Given the description of an element on the screen output the (x, y) to click on. 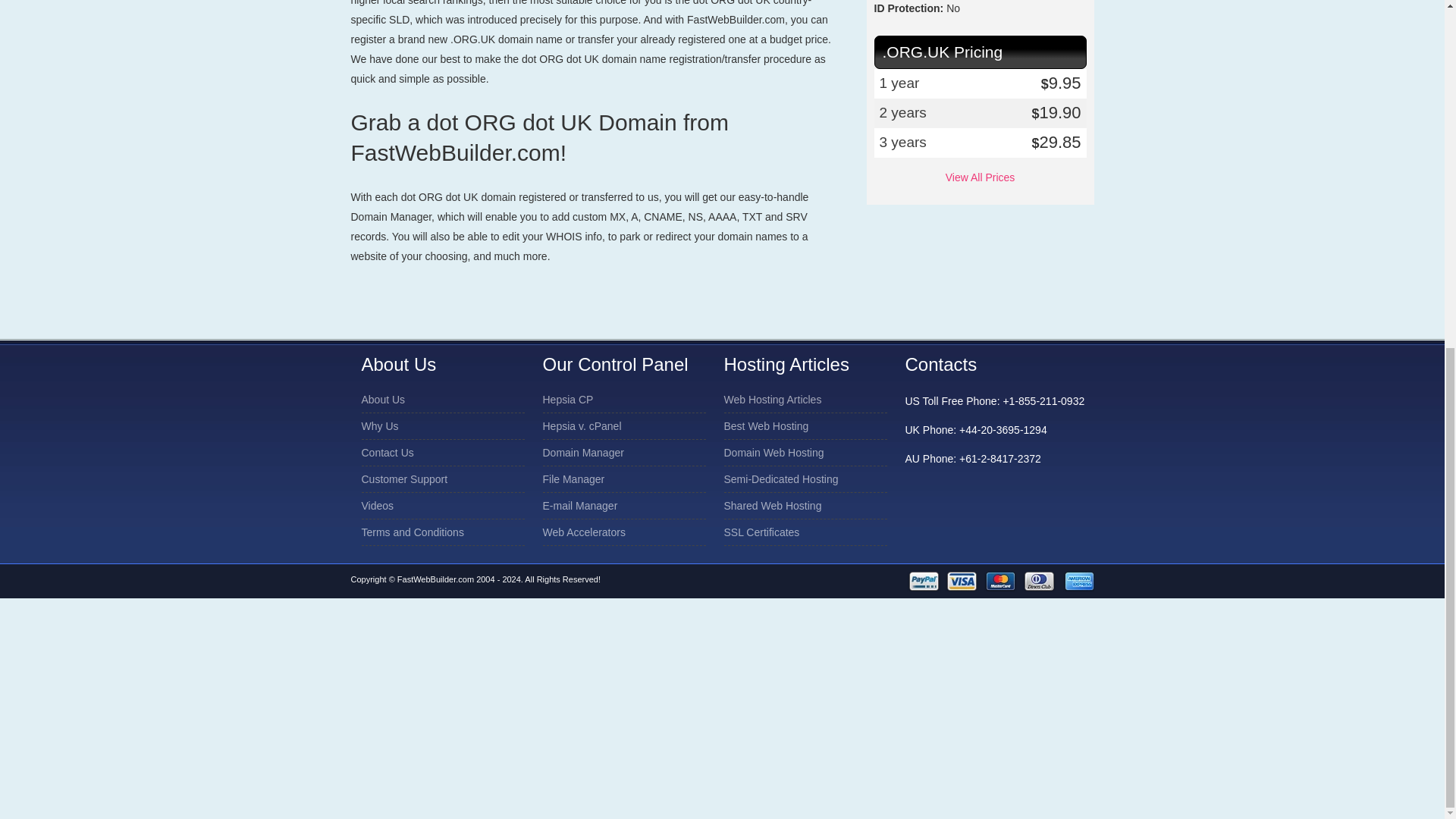
Contact Us (387, 452)
View All Prices (979, 177)
Customer Support (403, 478)
About Us (382, 399)
Videos (377, 505)
Why Us (379, 425)
